Given the description of an element on the screen output the (x, y) to click on. 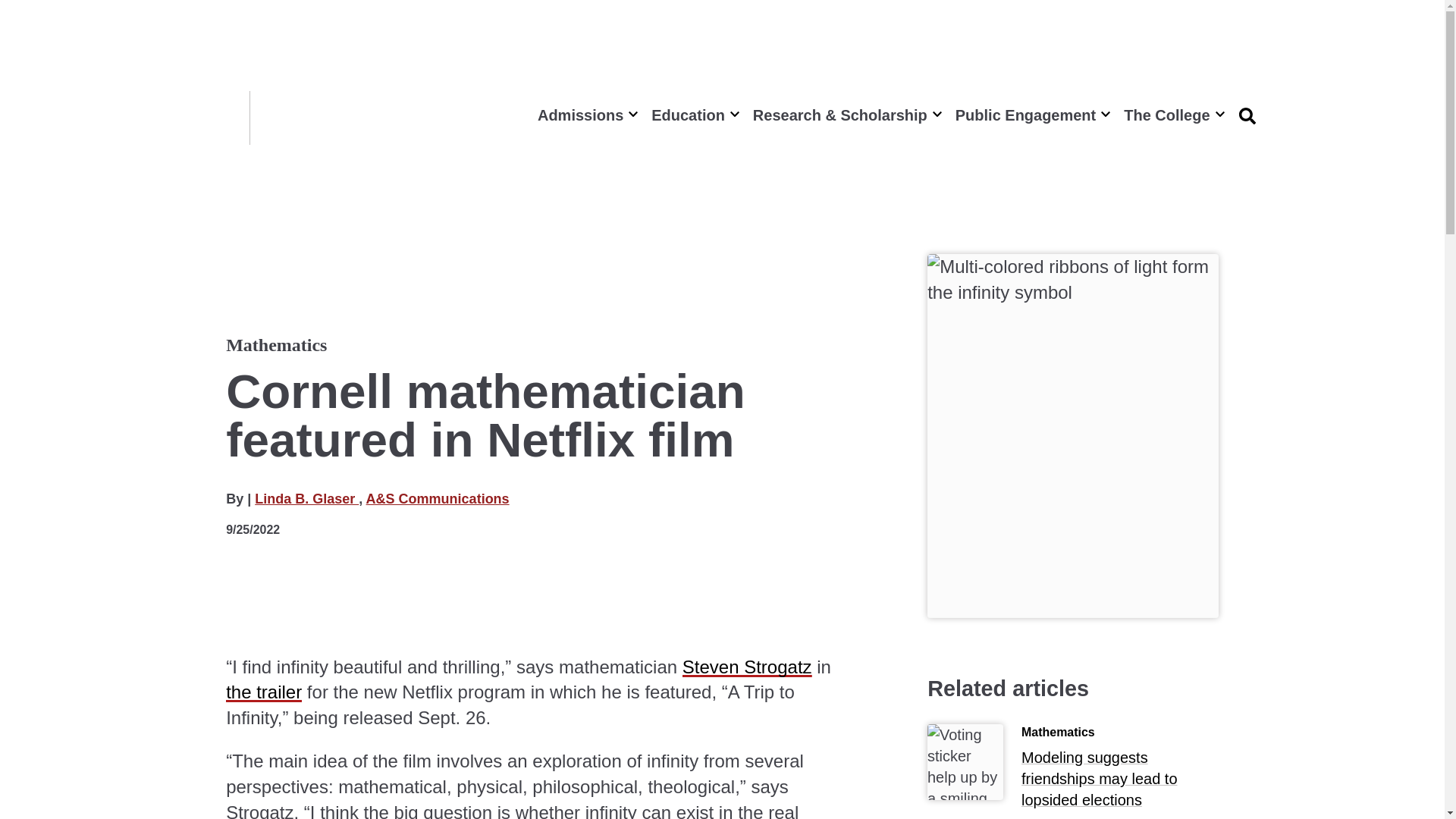
The College (1171, 115)
Modeling suggests friendships may lead to lopsided elections (1120, 782)
Admissions (585, 115)
Public Engagement (1030, 115)
Cornell University (206, 117)
Cornell University (206, 117)
Education (693, 115)
